Given the description of an element on the screen output the (x, y) to click on. 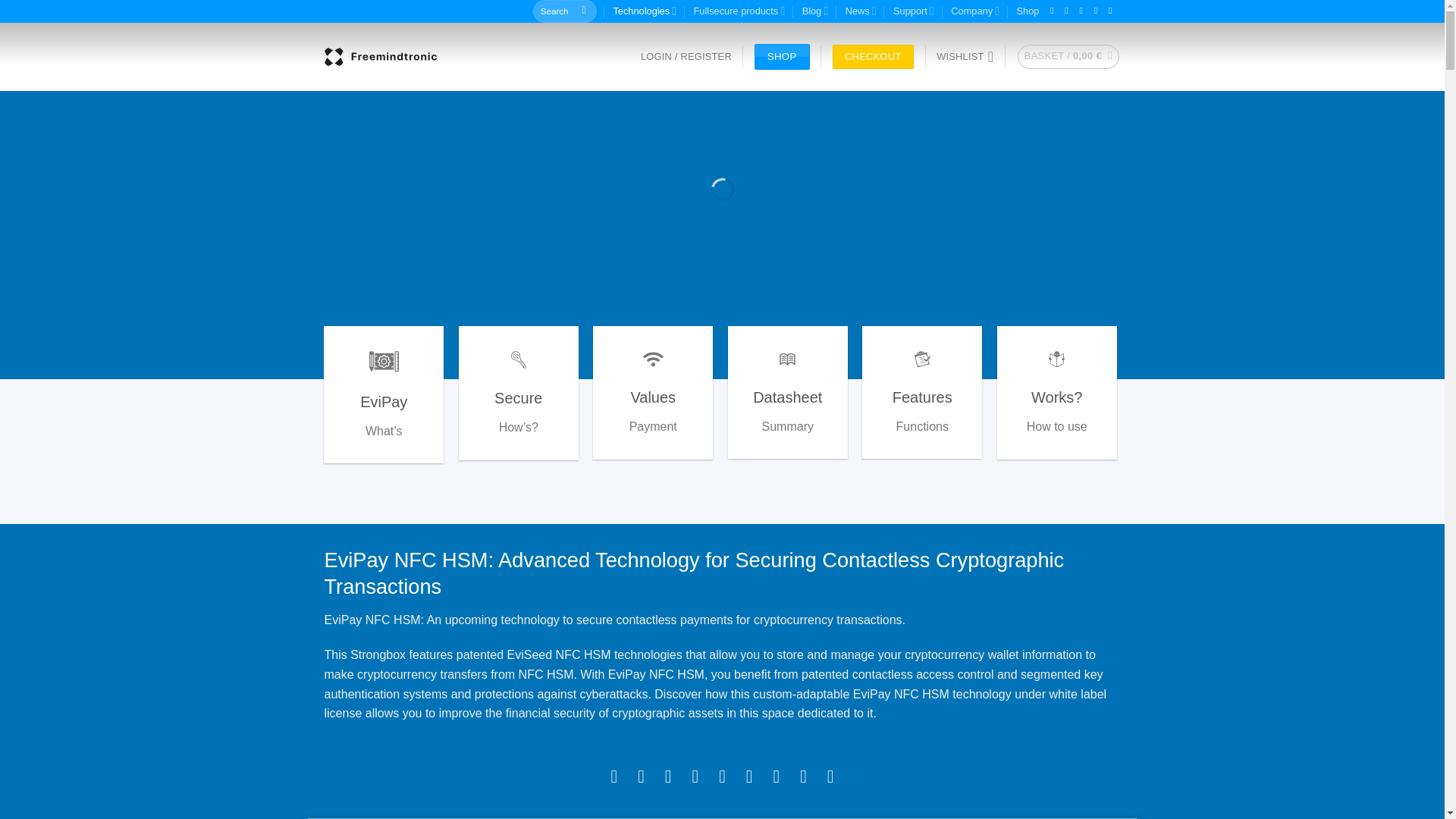
Basket (1068, 56)
Freemindtronic - Take back control, take back power (380, 56)
Share on X (640, 775)
Search (584, 11)
Wishlist (964, 56)
Technologies (644, 11)
Login (686, 56)
